Given the description of an element on the screen output the (x, y) to click on. 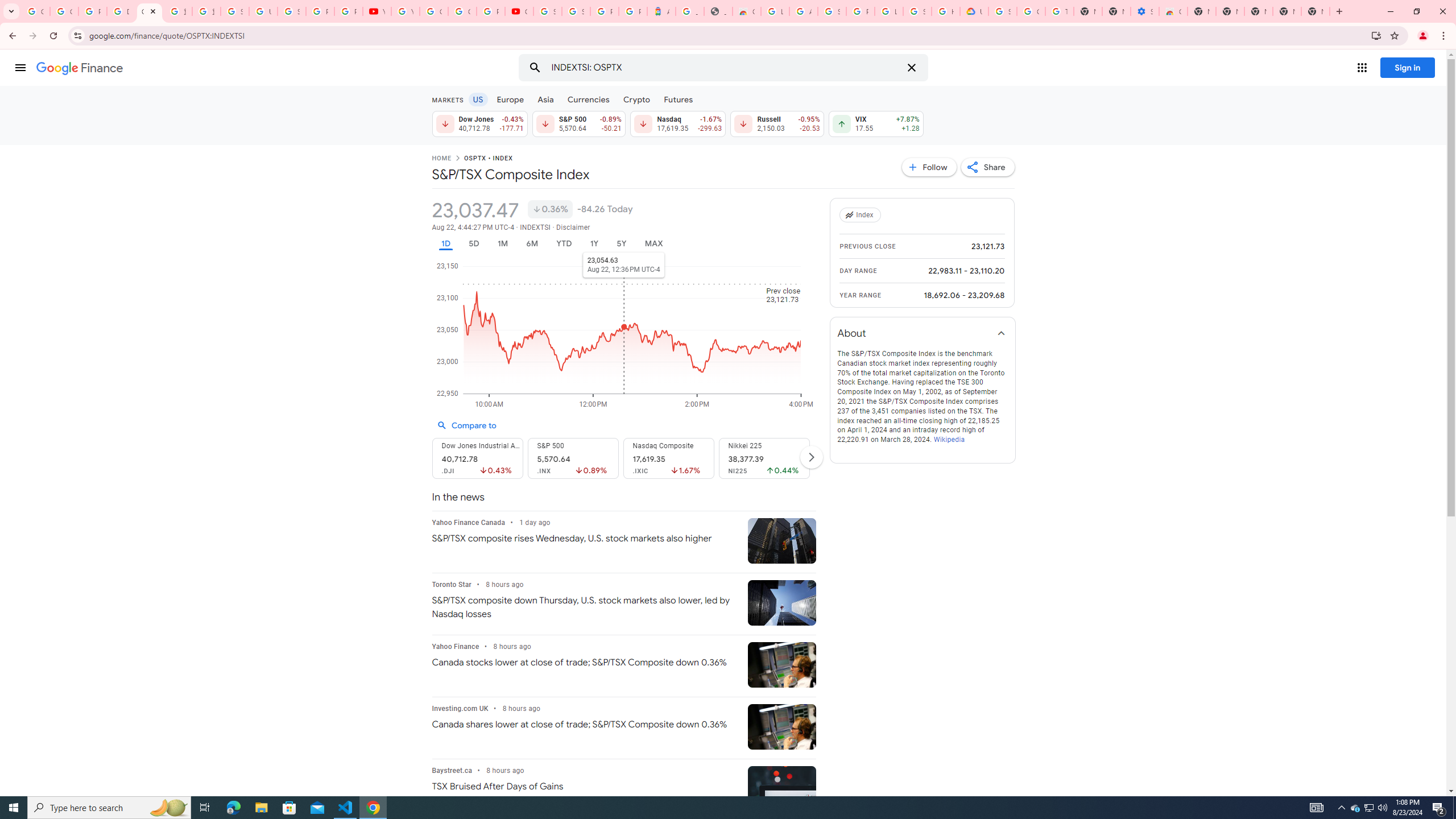
Follow (929, 167)
5Y (621, 243)
Dow Jones 40,712.78 Down by 0.43% -177.71 (478, 123)
Russell 2,150.03 Down by 0.95% -20.53 (777, 123)
Create your Google Account (461, 11)
Crypto (636, 99)
Sign in - Google Accounts (234, 11)
